Given the description of an element on the screen output the (x, y) to click on. 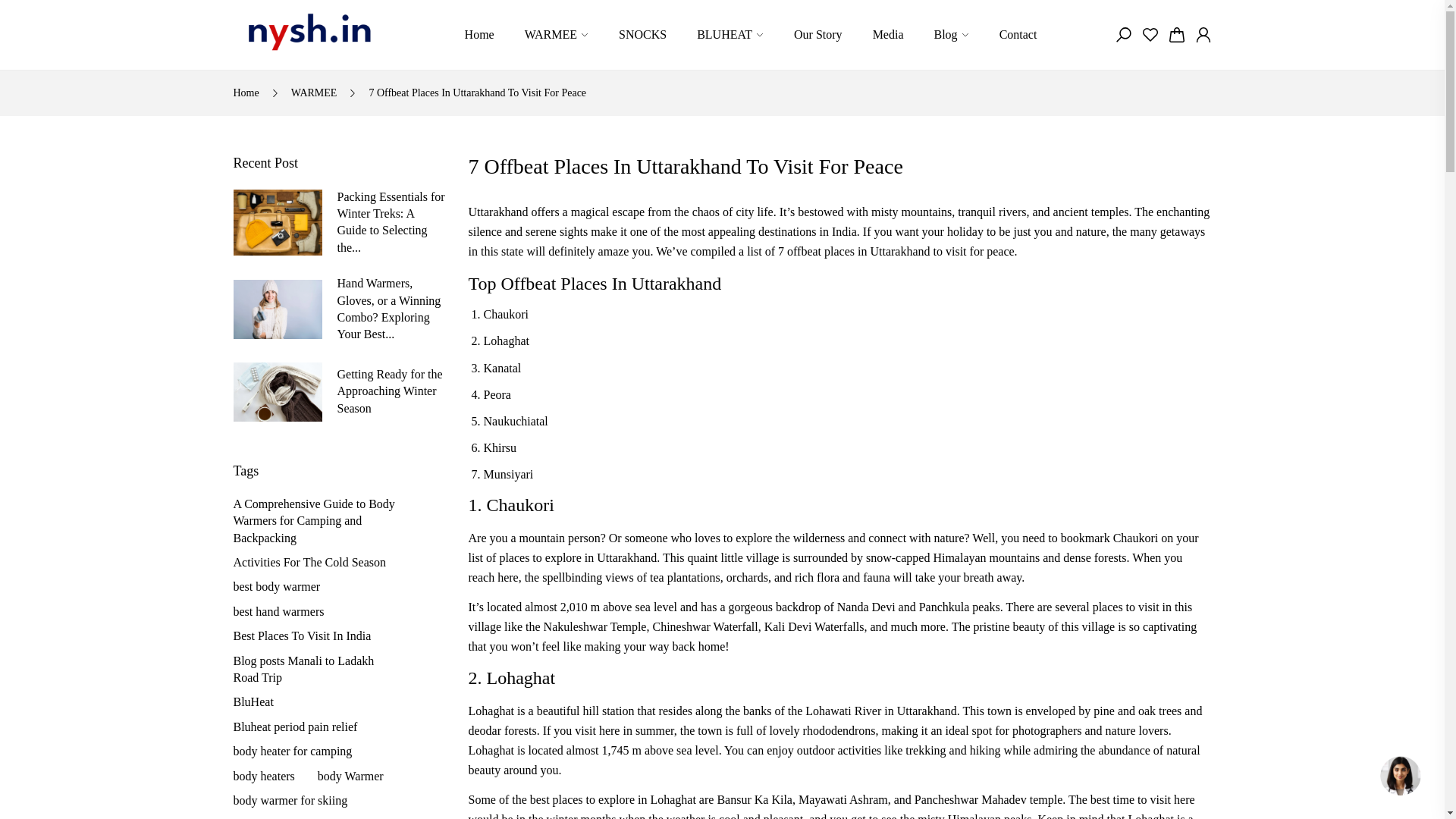
WARMEE (556, 34)
Media (888, 34)
BLUHEAT (729, 34)
Contact (1017, 34)
Blog (951, 34)
wishlist (1149, 34)
WARMEE (556, 34)
BLUHEAT (729, 34)
Our Story (818, 34)
SNOCKS (642, 34)
